Given the description of an element on the screen output the (x, y) to click on. 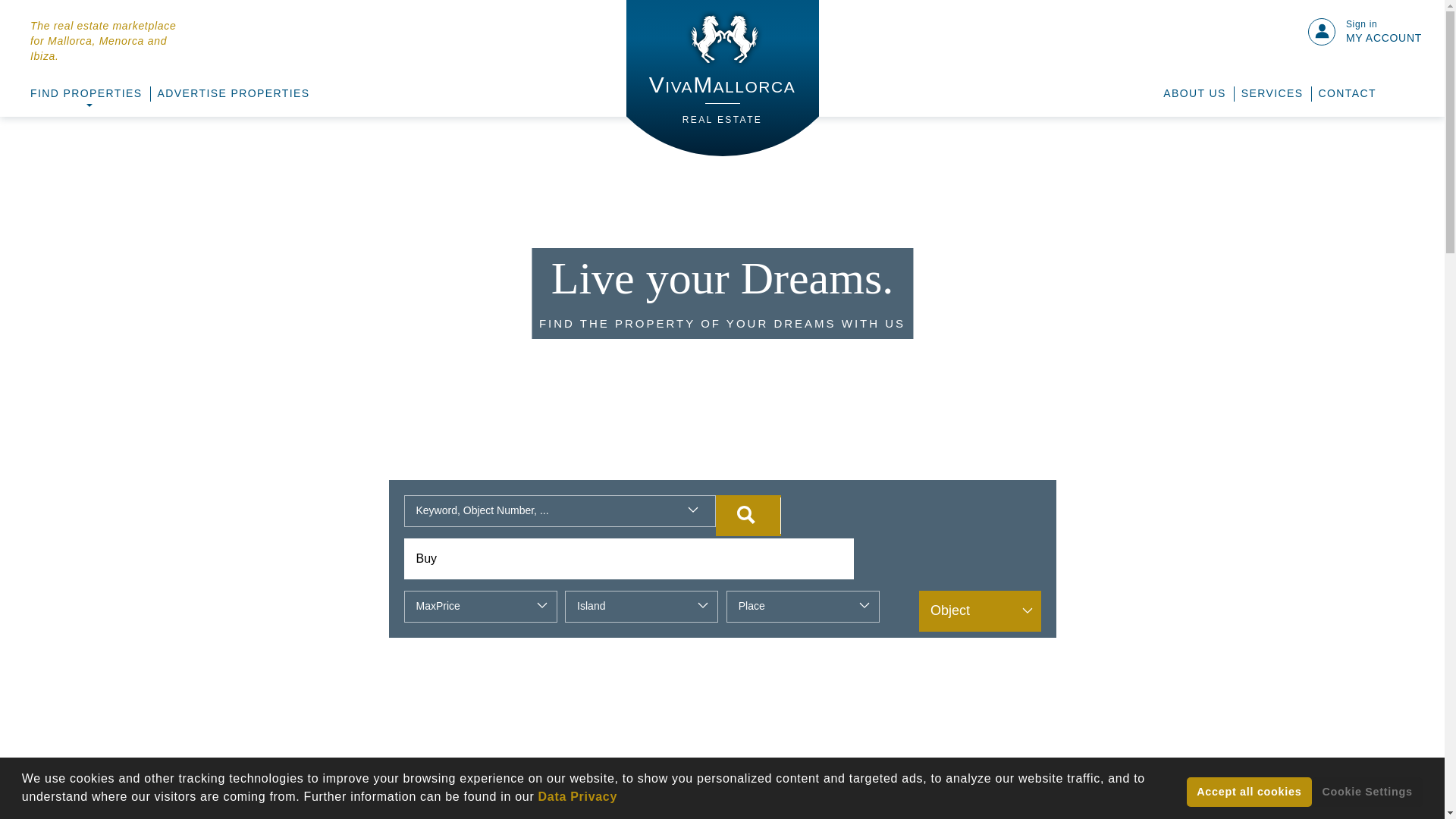
ABOUT US (1194, 93)
FIND PROPERTIES (86, 93)
Find Objects (748, 515)
SERVICES (722, 78)
Find Objects (1272, 93)
ADVERTISE PROPERTIES (748, 515)
Buy (233, 93)
CONTACT (628, 558)
